Given the description of an element on the screen output the (x, y) to click on. 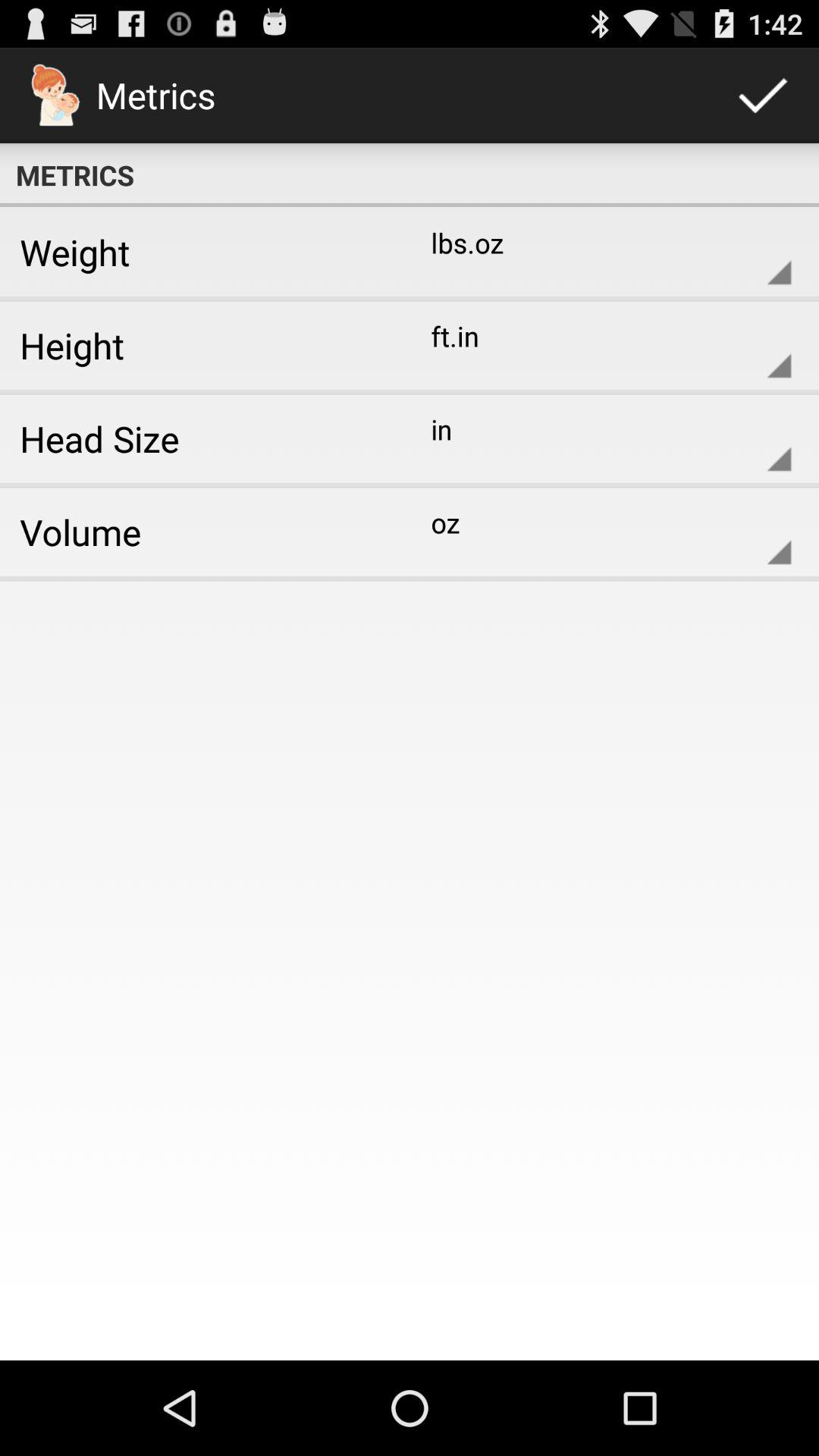
swipe to the head size icon (199, 438)
